Given the description of an element on the screen output the (x, y) to click on. 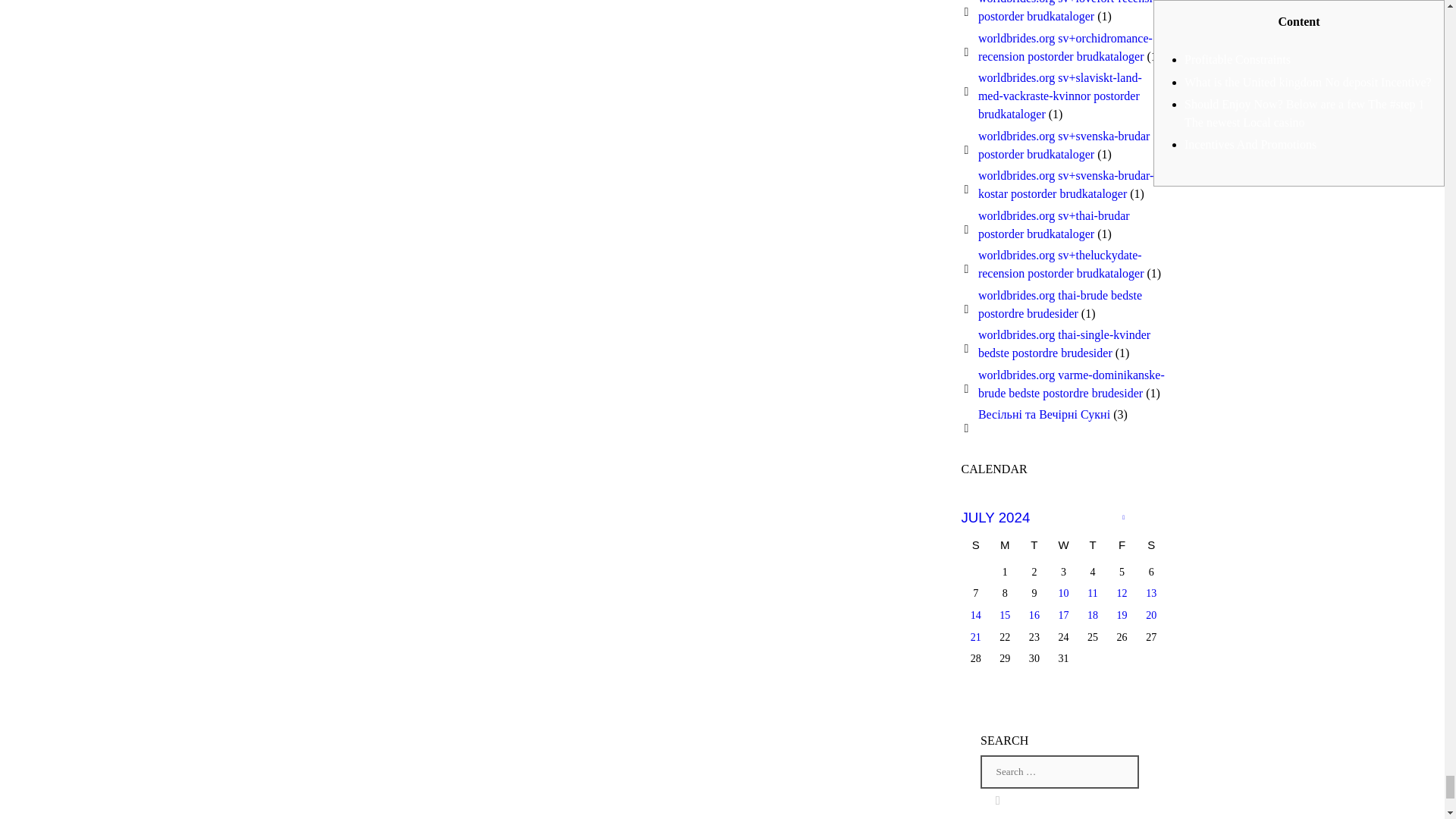
View posts for July 2024 (995, 517)
22 items (1151, 593)
Tuesday (1034, 547)
Sunday (975, 547)
30 items (1121, 593)
113 items (1063, 593)
Wednesday (1063, 547)
Friday (1121, 547)
Thursday (1093, 547)
Saturday (1151, 547)
98 items (1093, 593)
View posts for June 2024 (1122, 517)
Monday (1005, 547)
